Given the description of an element on the screen output the (x, y) to click on. 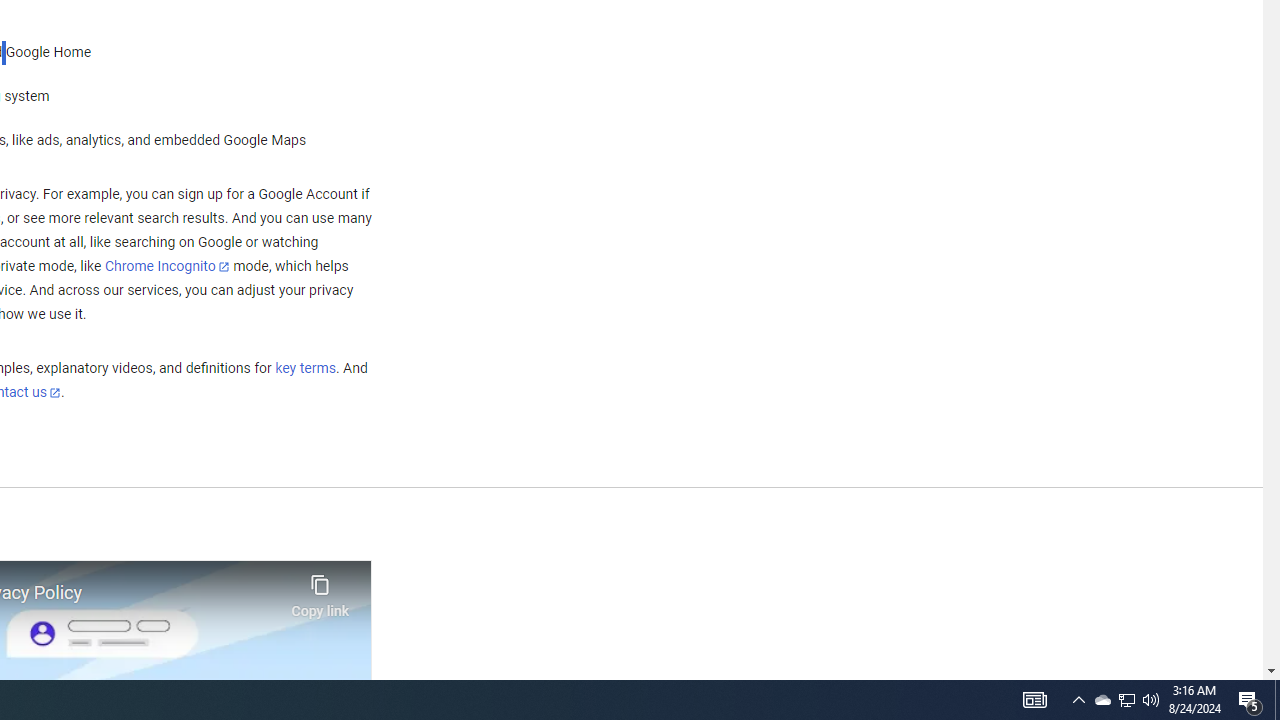
key terms (305, 369)
Chrome Incognito (166, 266)
Copy link (319, 591)
